Given the description of an element on the screen output the (x, y) to click on. 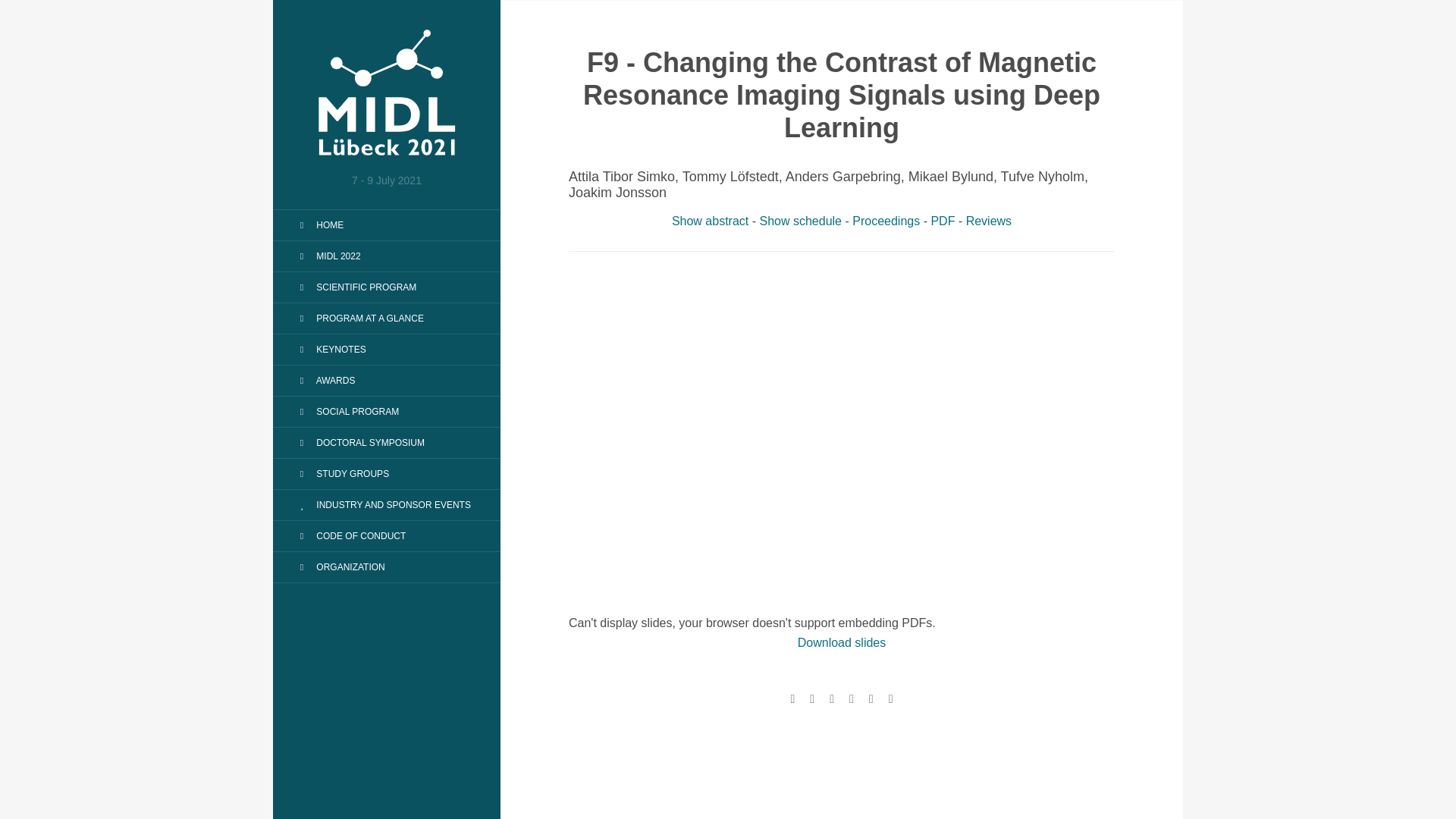
Show schedule (801, 220)
MIDL 2022 (326, 256)
Download slides (841, 642)
PDF (942, 220)
MIDL on GitHub (850, 698)
CC BY-SA (871, 698)
MIDL Foundation (792, 698)
Show abstract (709, 220)
AWARDS (323, 380)
MIDL on YouTube (831, 698)
PROGRAM AT A GLANCE (357, 318)
Send us an email (890, 698)
STUDY GROUPS (340, 473)
Reviews (988, 220)
INDUSTRY AND SPONSOR EVENTS (381, 504)
